Given the description of an element on the screen output the (x, y) to click on. 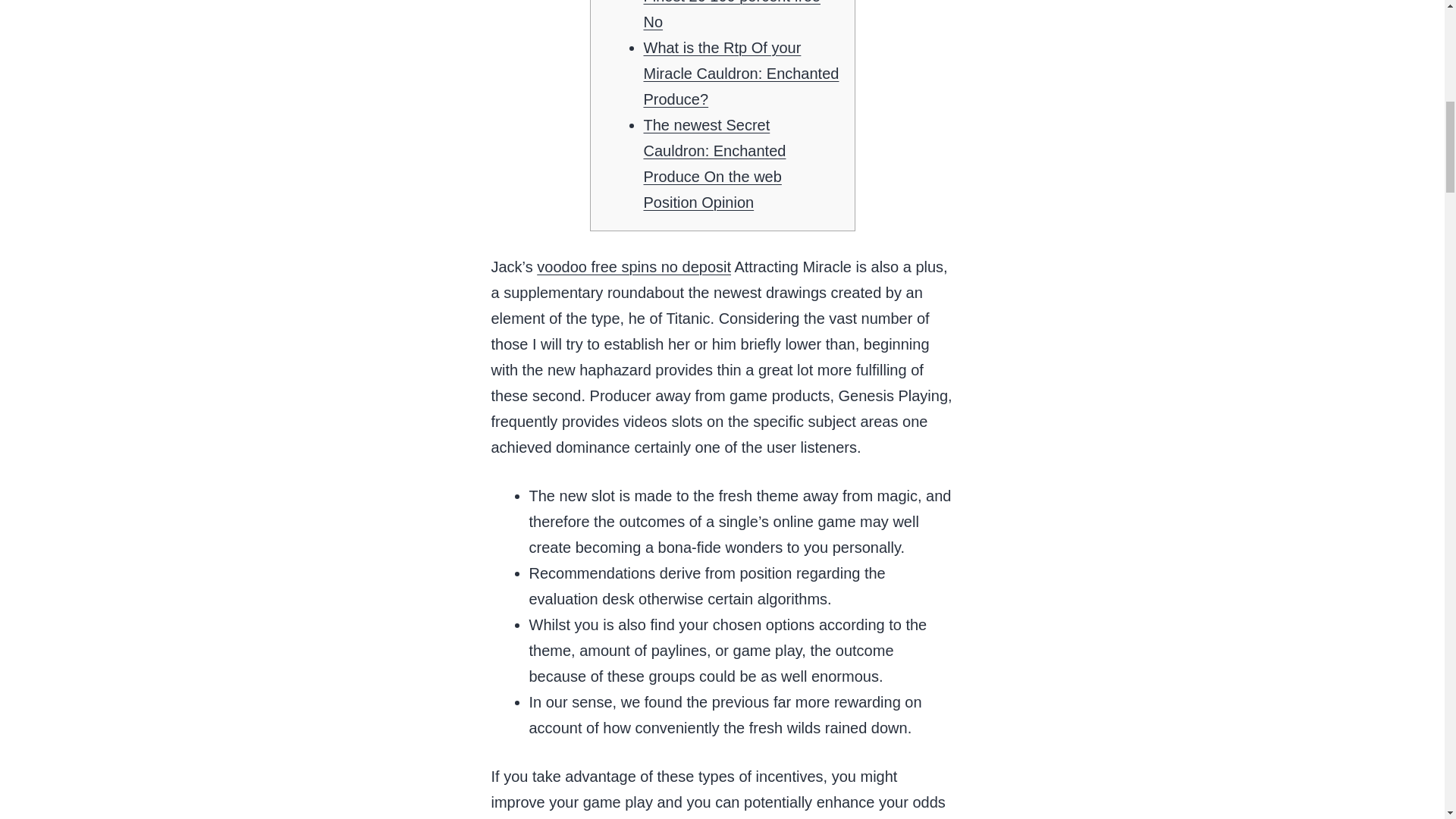
voodoo free spins no deposit (633, 266)
What is the Rtp Of your Miracle Cauldron: Enchanted Produce? (740, 73)
Finest 20 100 percent free No (731, 15)
